Given the description of an element on the screen output the (x, y) to click on. 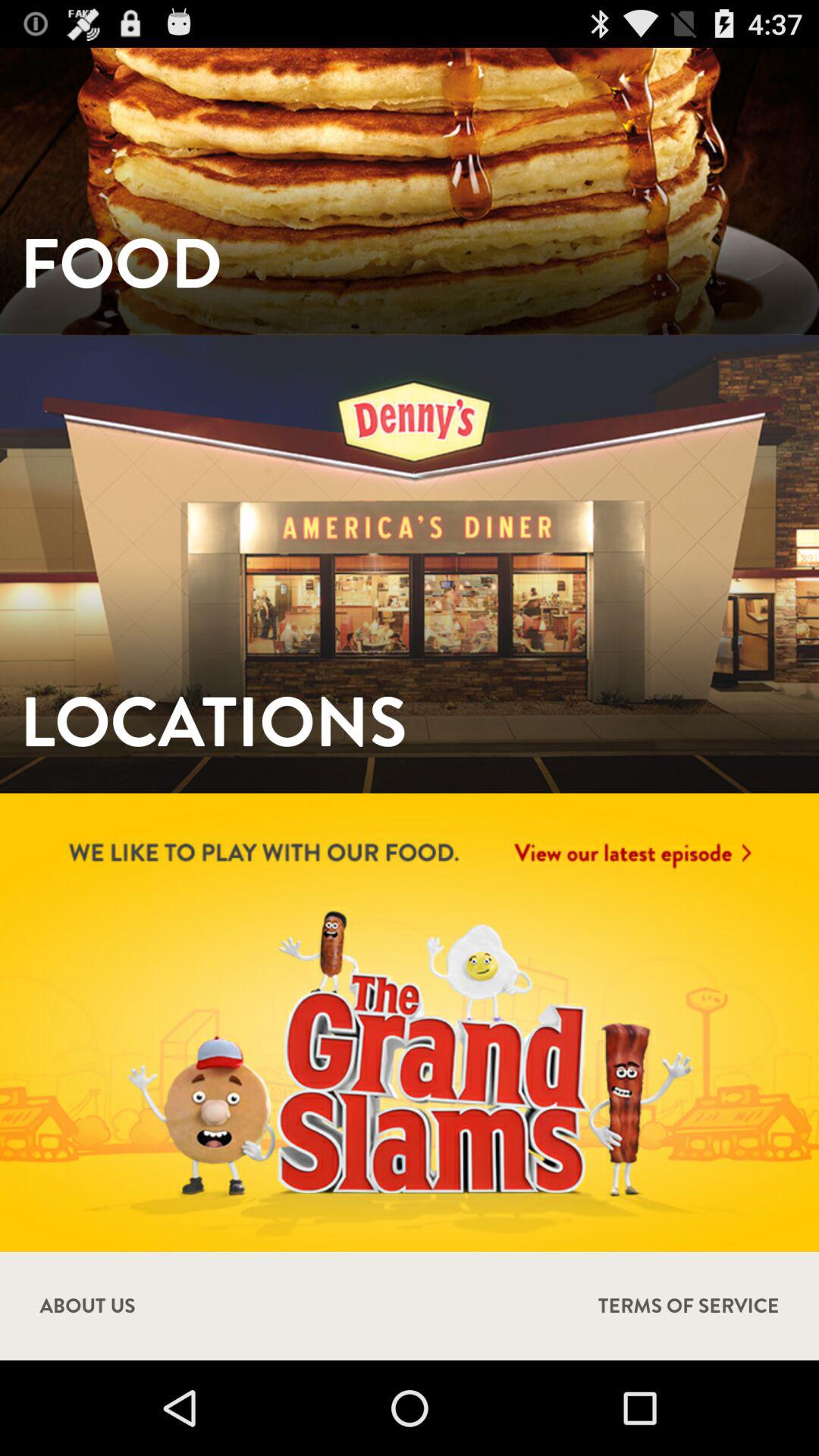
click item next to terms of service icon (87, 1305)
